Given the description of an element on the screen output the (x, y) to click on. 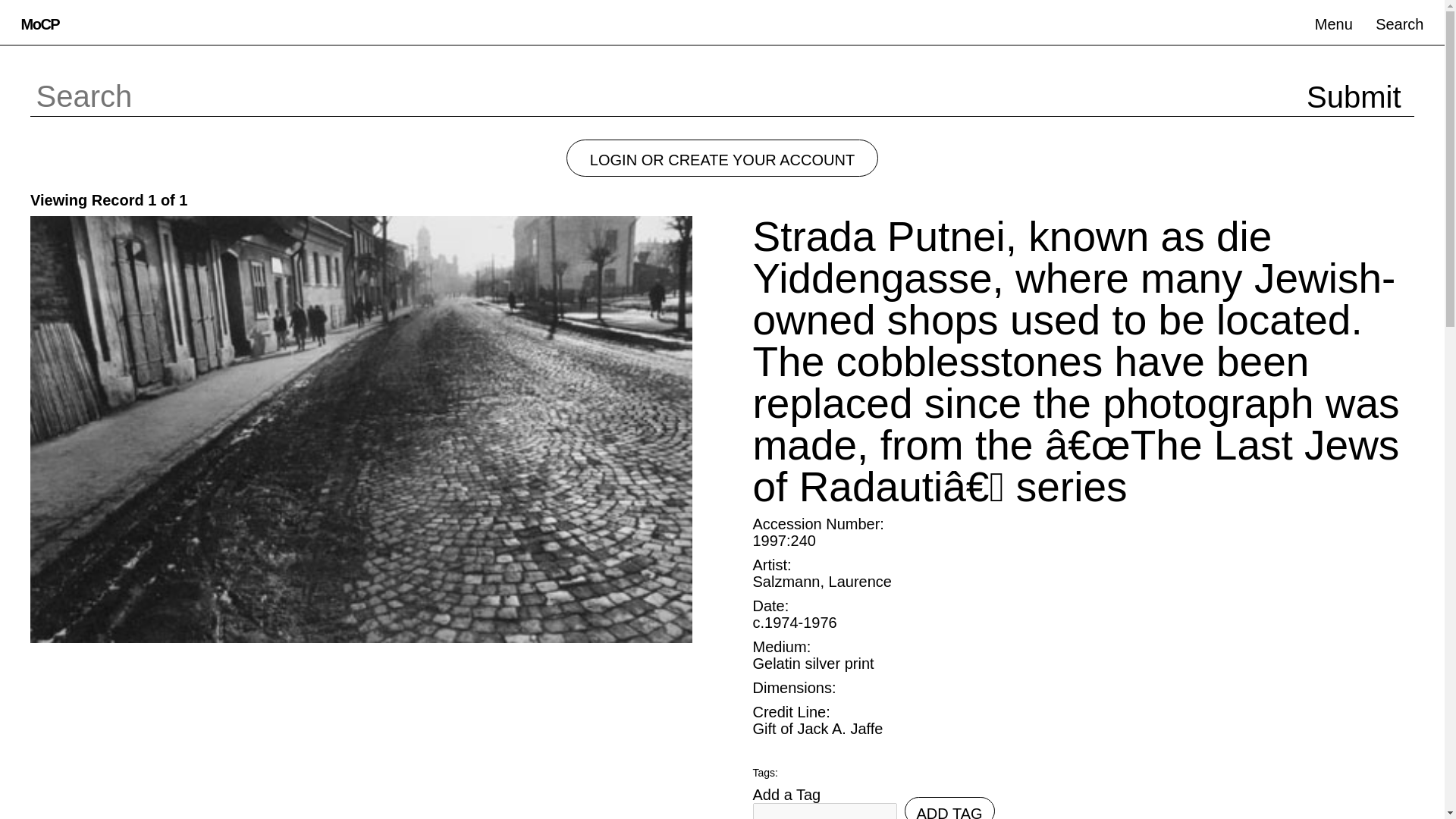
Menu (1333, 22)
Add Tag (949, 807)
Search (1399, 22)
Recover (75, 176)
LOGIN OR CREATE YOUR ACCOUNT (721, 157)
Submit (1353, 95)
Add Tag (949, 807)
Skip to content (18, 13)
MoCP (39, 22)
